Given the description of an element on the screen output the (x, y) to click on. 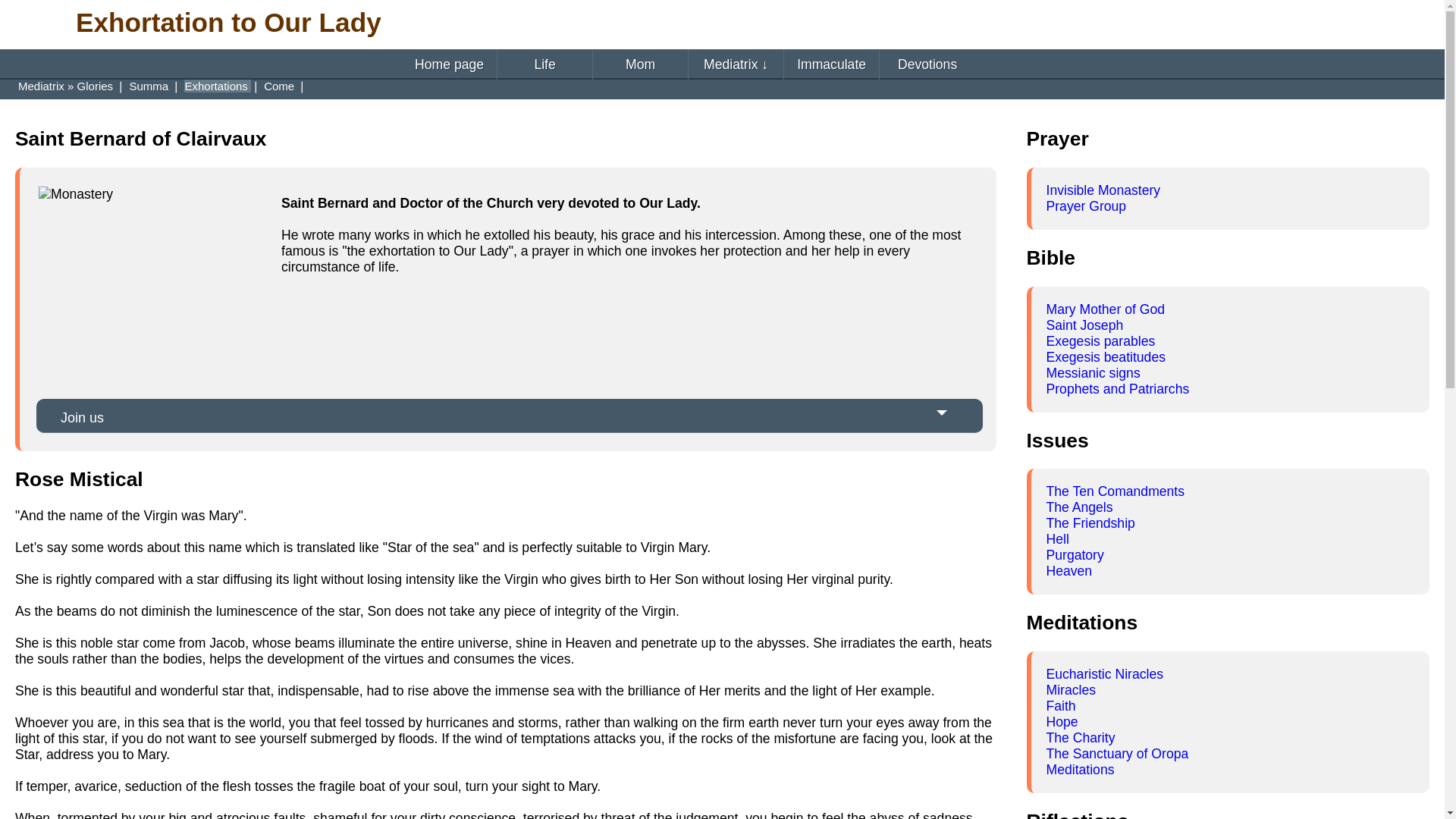
Life (544, 64)
Devotions (927, 64)
Immaculate (831, 64)
Home page (449, 64)
Mom (640, 64)
